Given the description of an element on the screen output the (x, y) to click on. 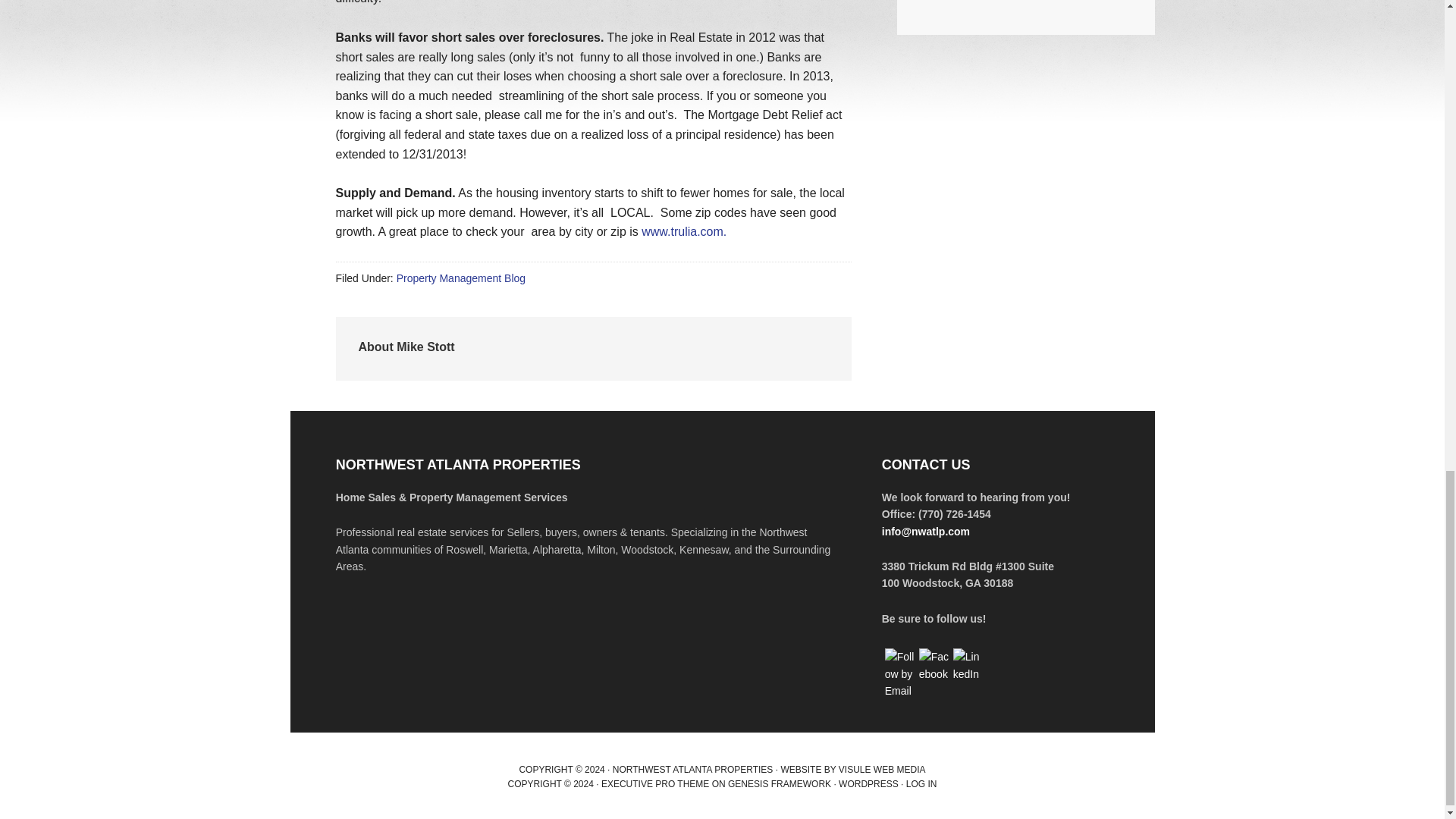
Facebook (933, 665)
Property Management Blog (460, 277)
Visule Web Media (882, 769)
LinkedIn (968, 665)
www.trulia.com. (684, 231)
